Given the description of an element on the screen output the (x, y) to click on. 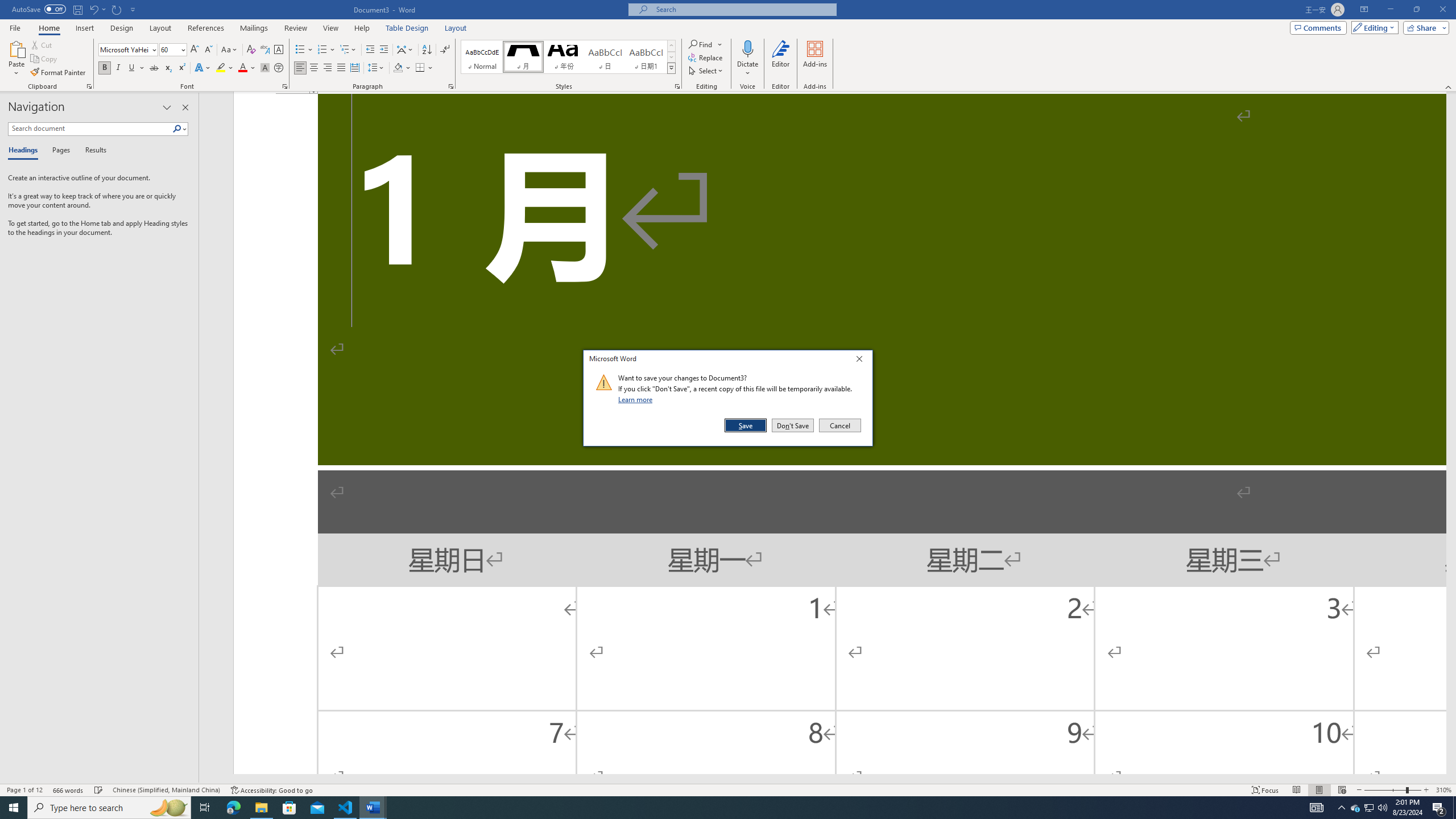
File Explorer - 1 running window (261, 807)
Microsoft search (742, 9)
Q2790: 100% (1382, 807)
